Given the description of an element on the screen output the (x, y) to click on. 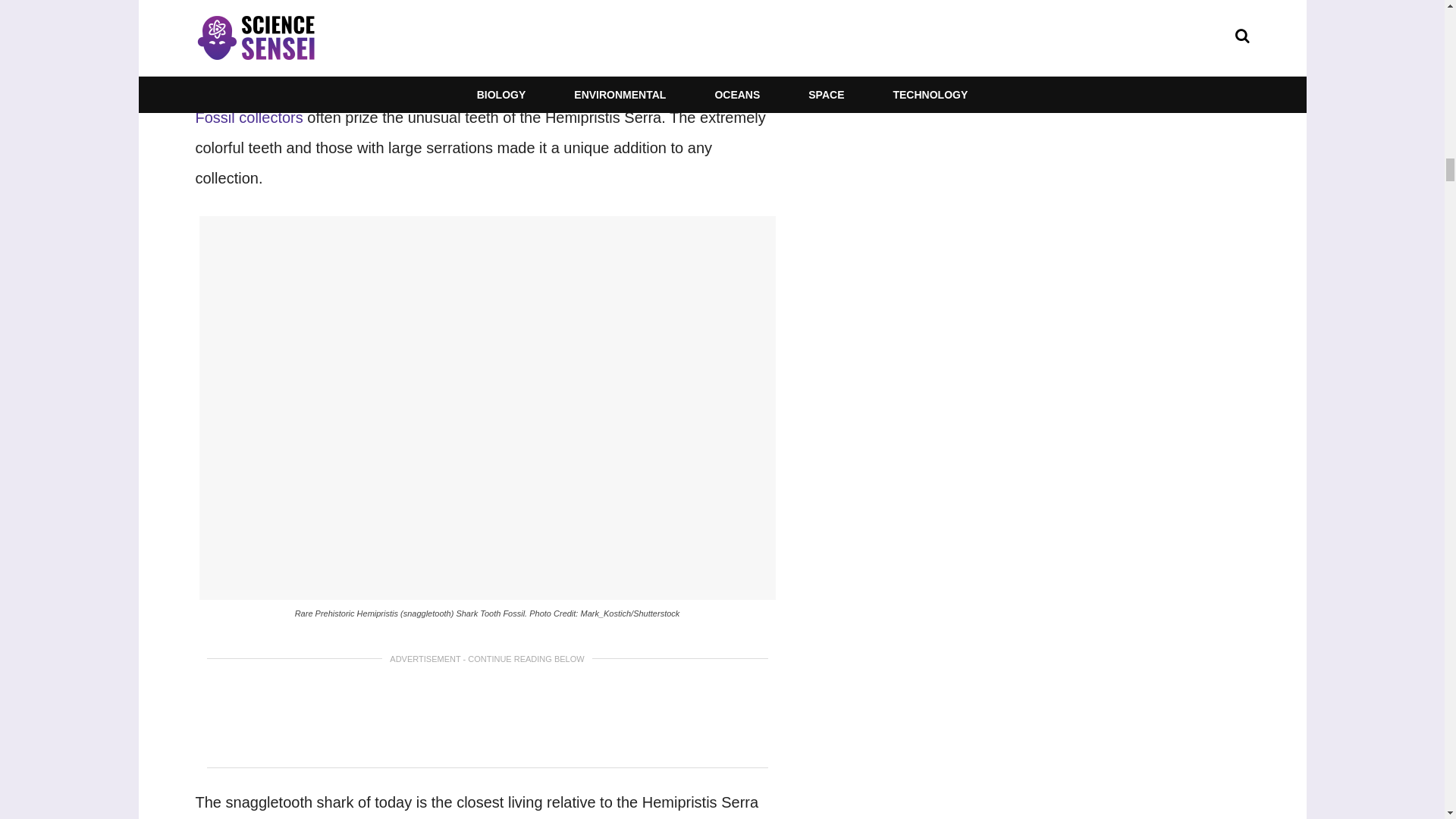
Fossil collectors (248, 117)
